Given the description of an element on the screen output the (x, y) to click on. 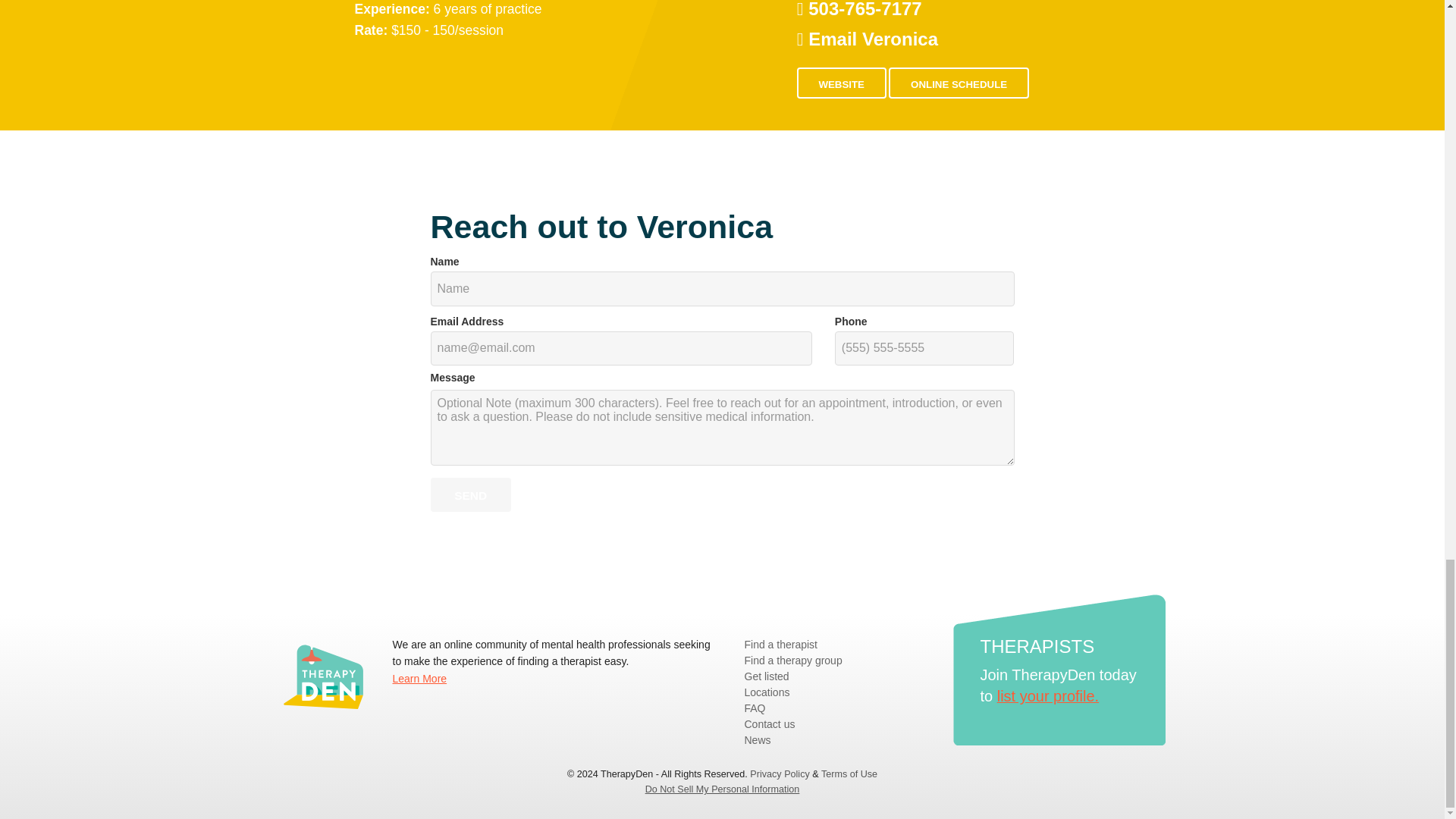
Send (470, 494)
